Given the description of an element on the screen output the (x, y) to click on. 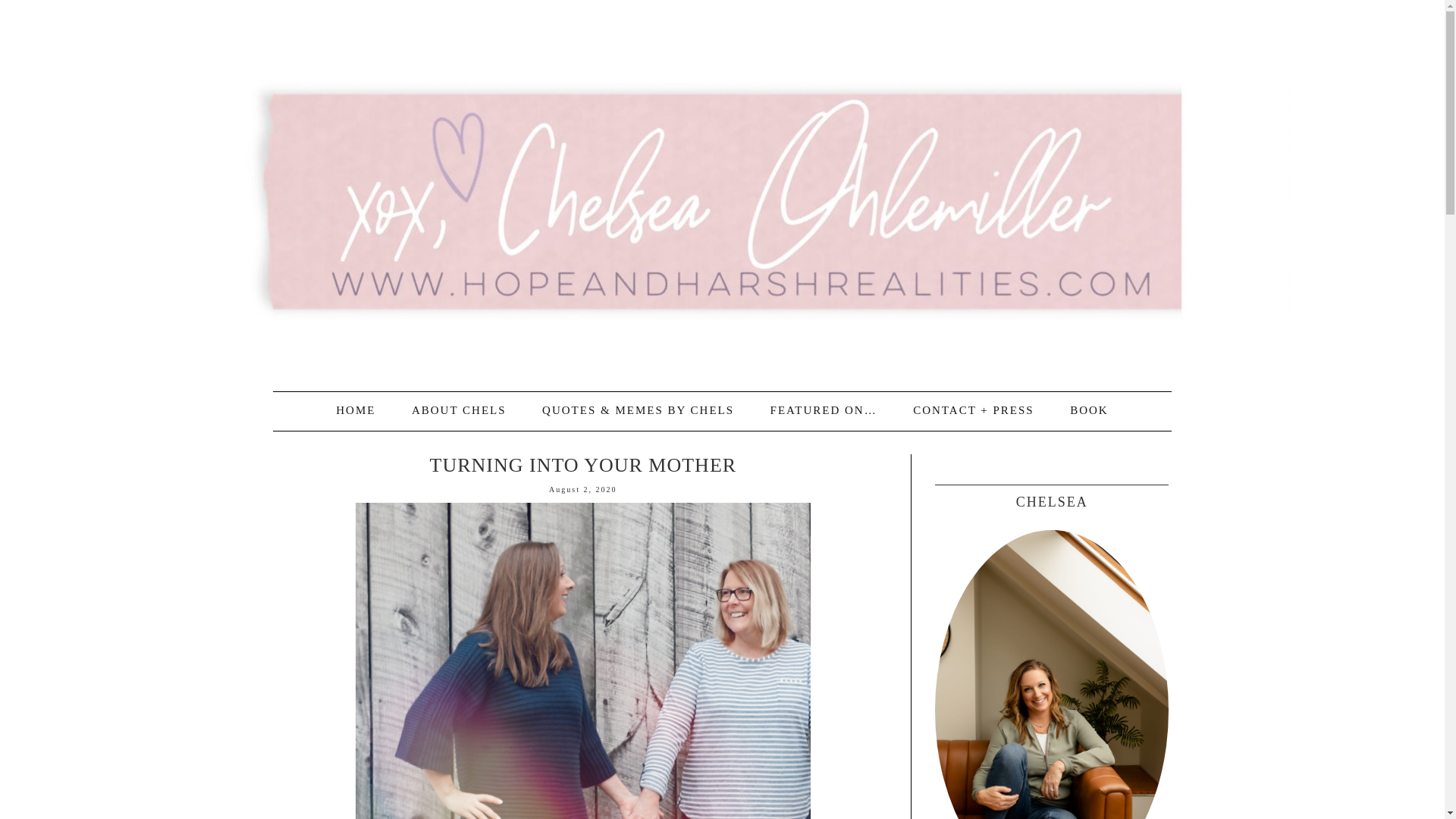
BOOK (1089, 410)
ABOUT CHELS (458, 410)
HOME (355, 410)
